Given the description of an element on the screen output the (x, y) to click on. 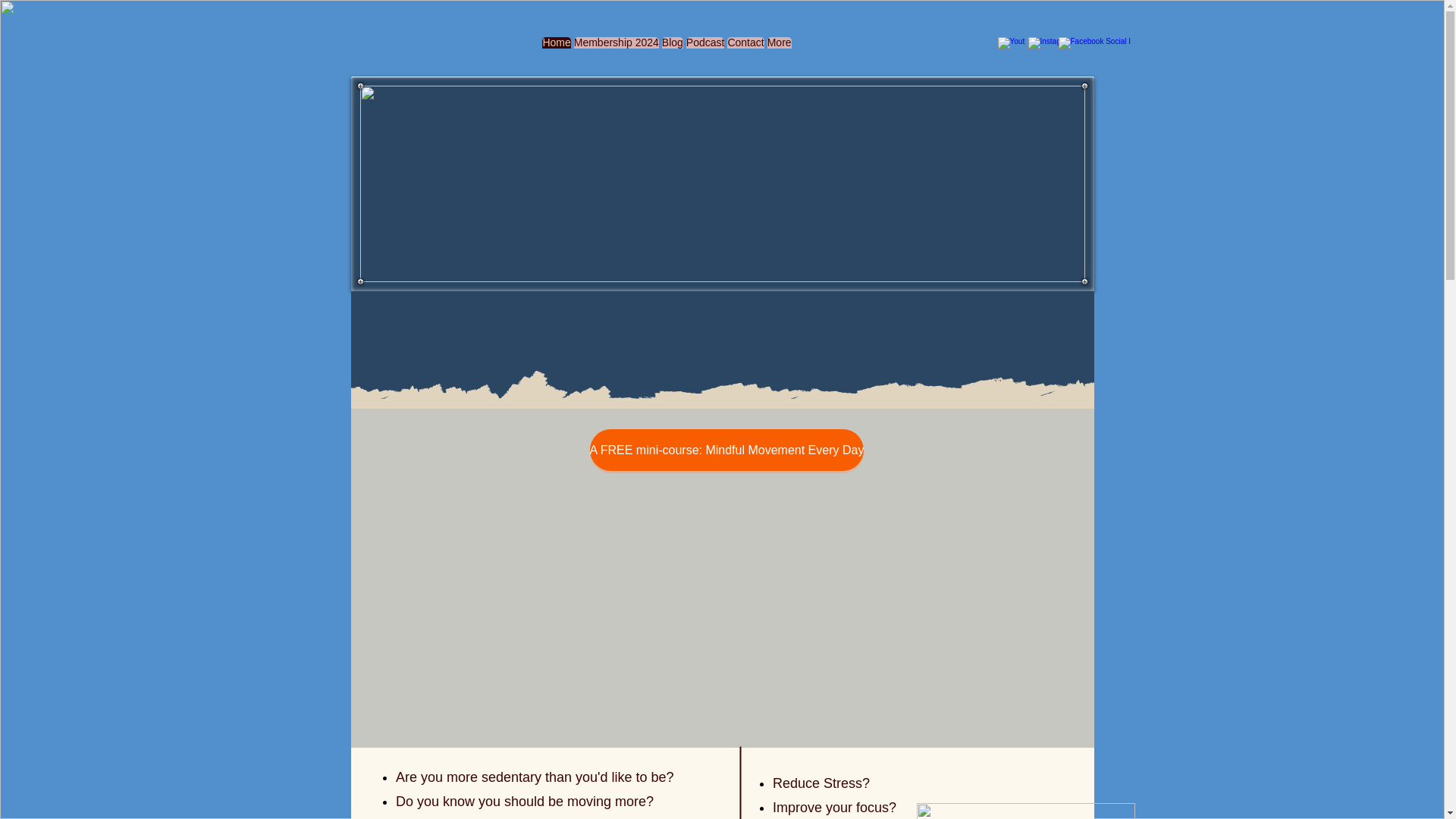
Blog (672, 47)
A FREE mini-course: Mindful Movement Every Day (726, 449)
Home (555, 47)
Membership 2024 (616, 47)
Contact (744, 47)
Podcast (705, 47)
